Given the description of an element on the screen output the (x, y) to click on. 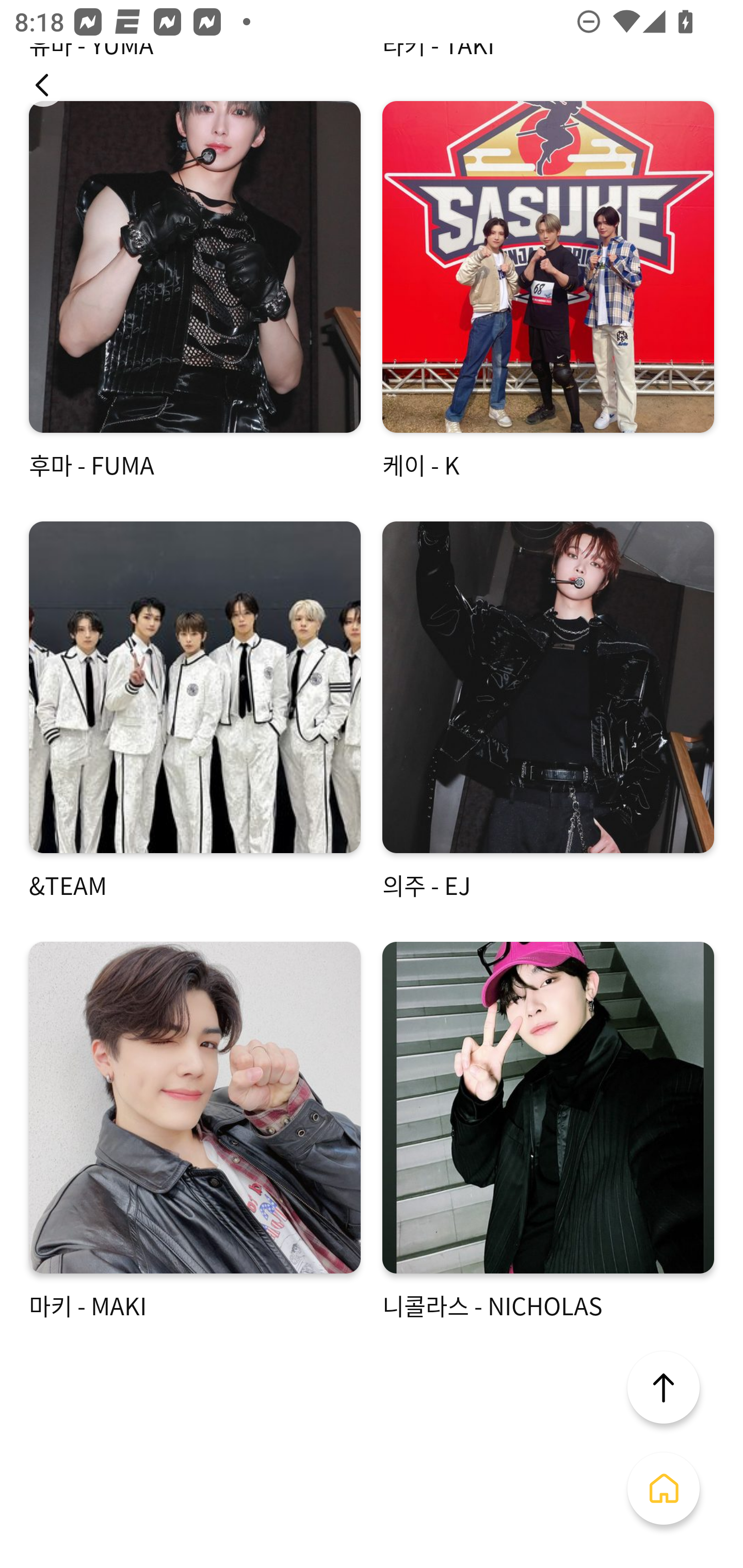
후마  -  FUMA (194, 290)
케이  -  K (548, 290)
&TEAM (194, 711)
의주  -  EJ (548, 711)
마키  -  MAKI (194, 1131)
니콜라스  -  NICHOLAS (548, 1131)
